Given the description of an element on the screen output the (x, y) to click on. 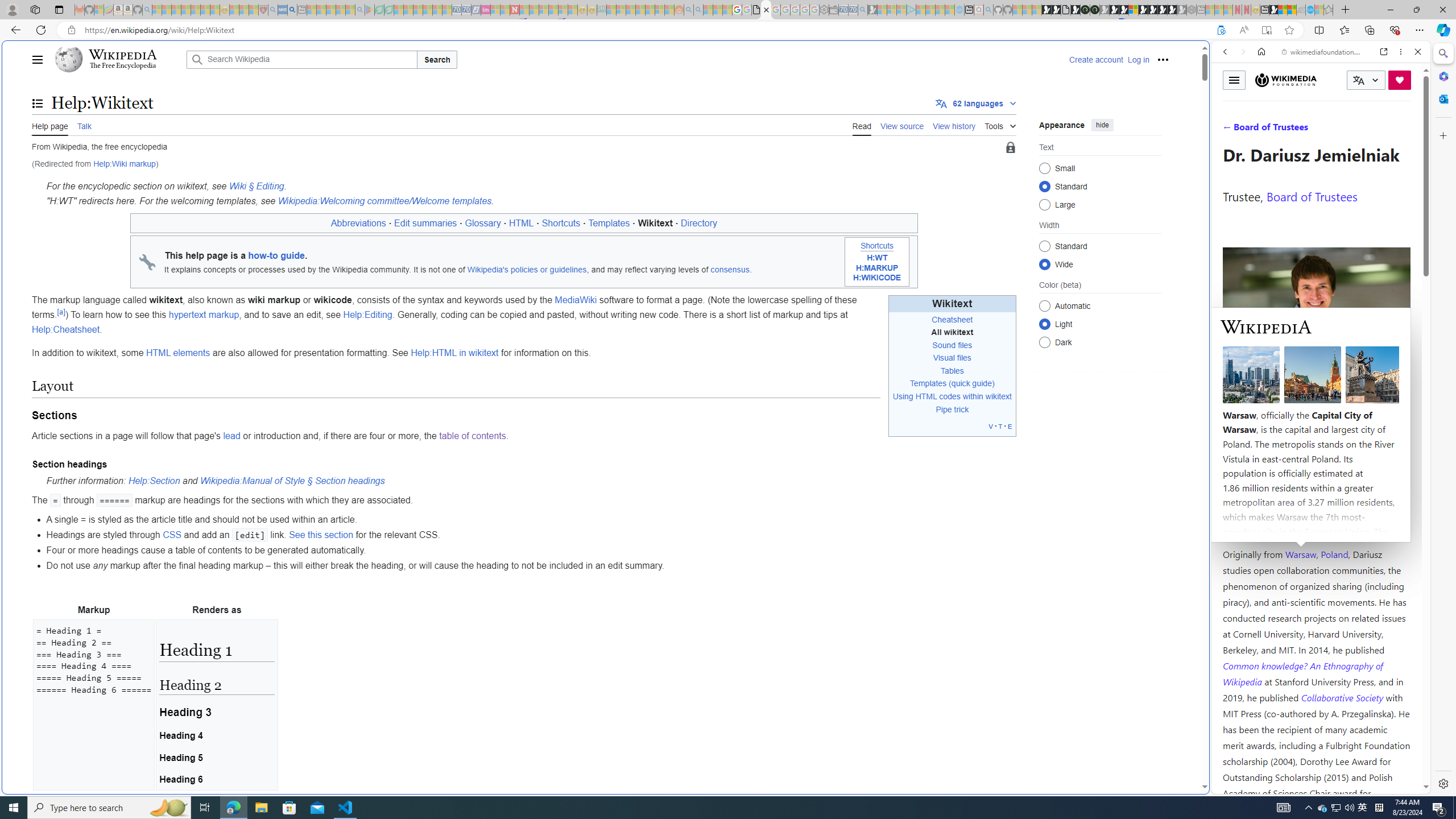
Cheatsheet (951, 319)
Abbreviations (357, 222)
hypertext markup (203, 314)
See this section (320, 534)
t (1000, 425)
Help page (50, 124)
HTML (521, 222)
